Given the description of an element on the screen output the (x, y) to click on. 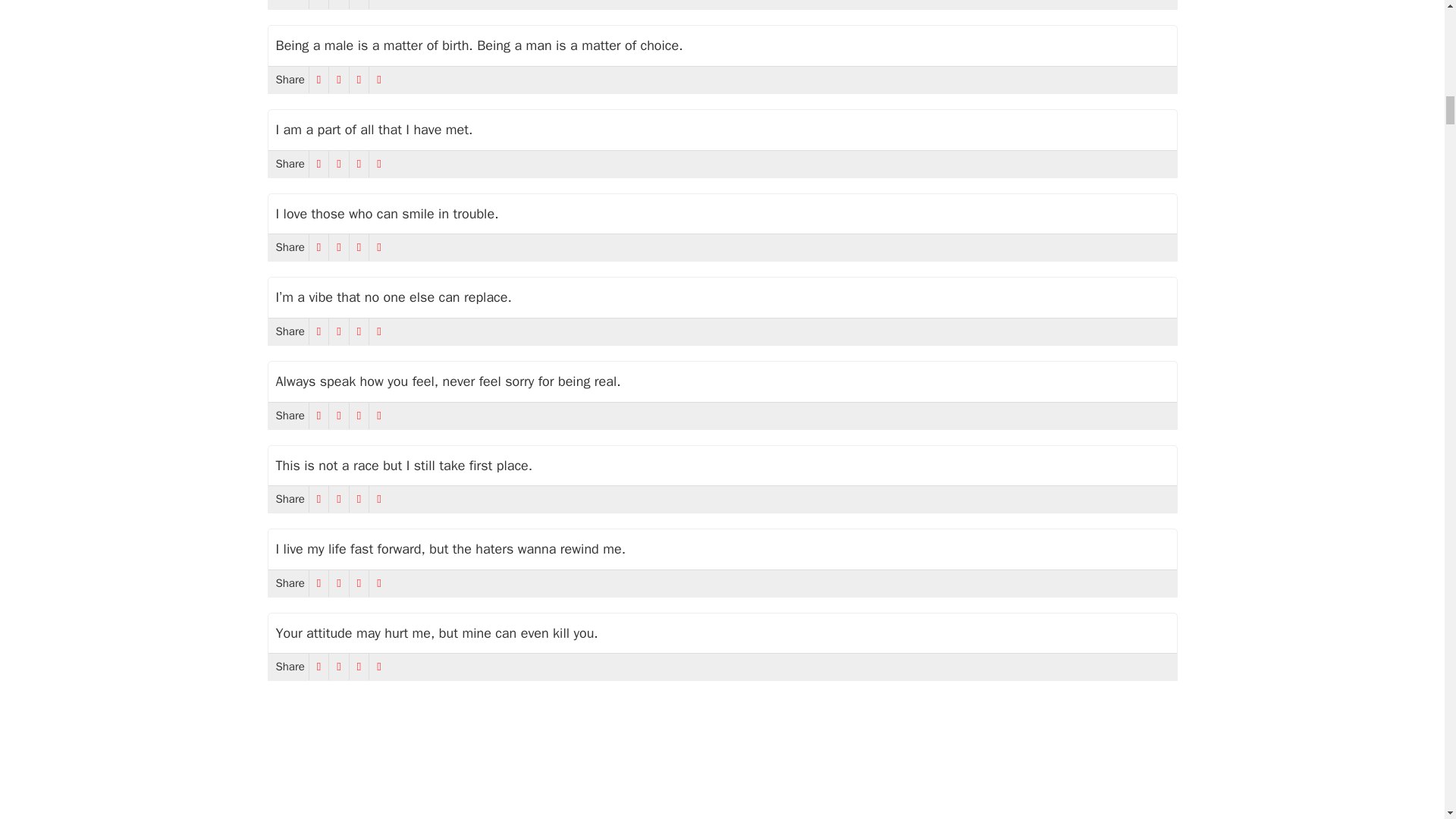
Advertisement (721, 761)
